Given the description of an element on the screen output the (x, y) to click on. 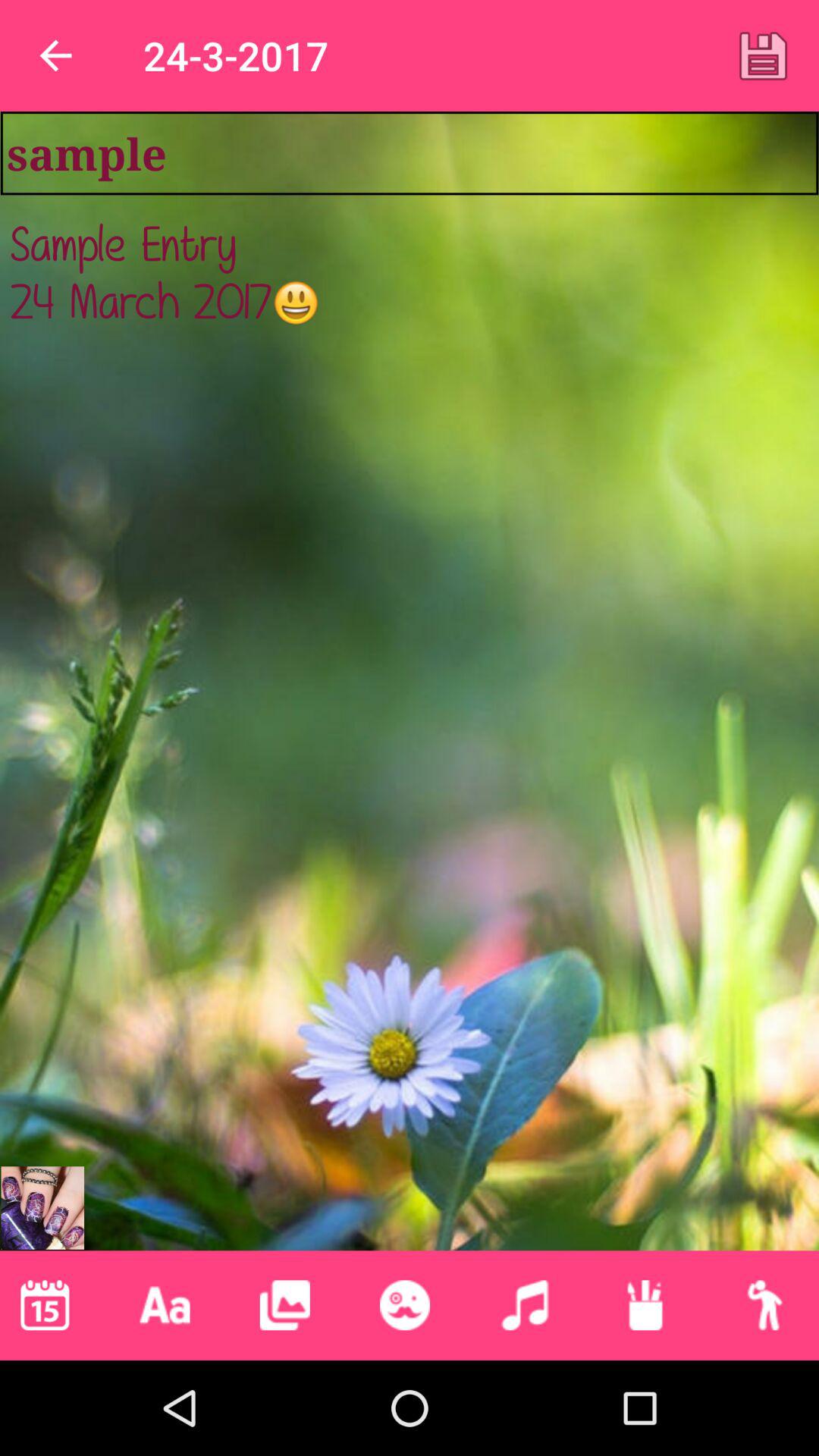
click the item next to 24-3-2017 app (763, 55)
